Given the description of an element on the screen output the (x, y) to click on. 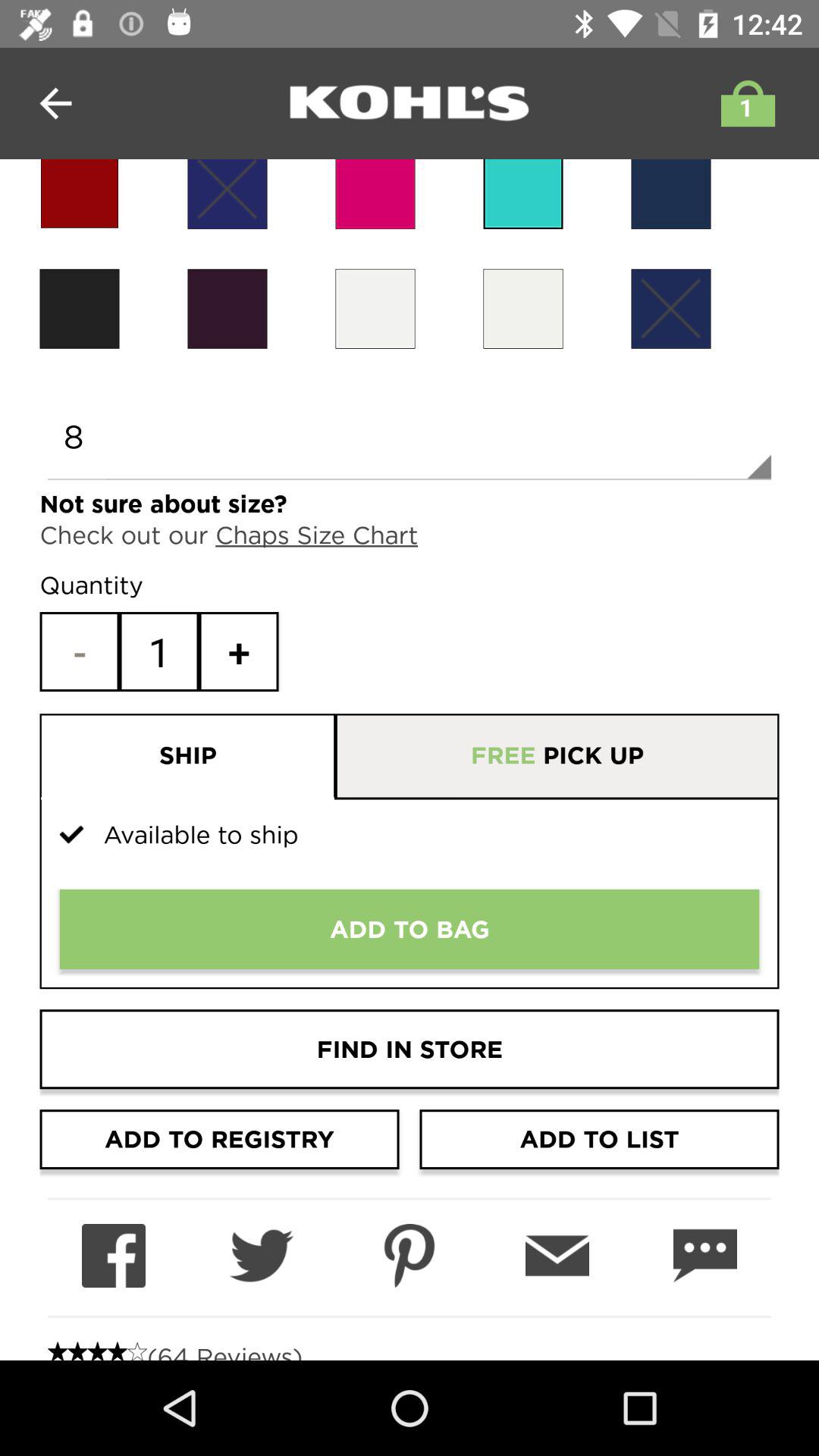
choose navy blue option (670, 308)
